Given the description of an element on the screen output the (x, y) to click on. 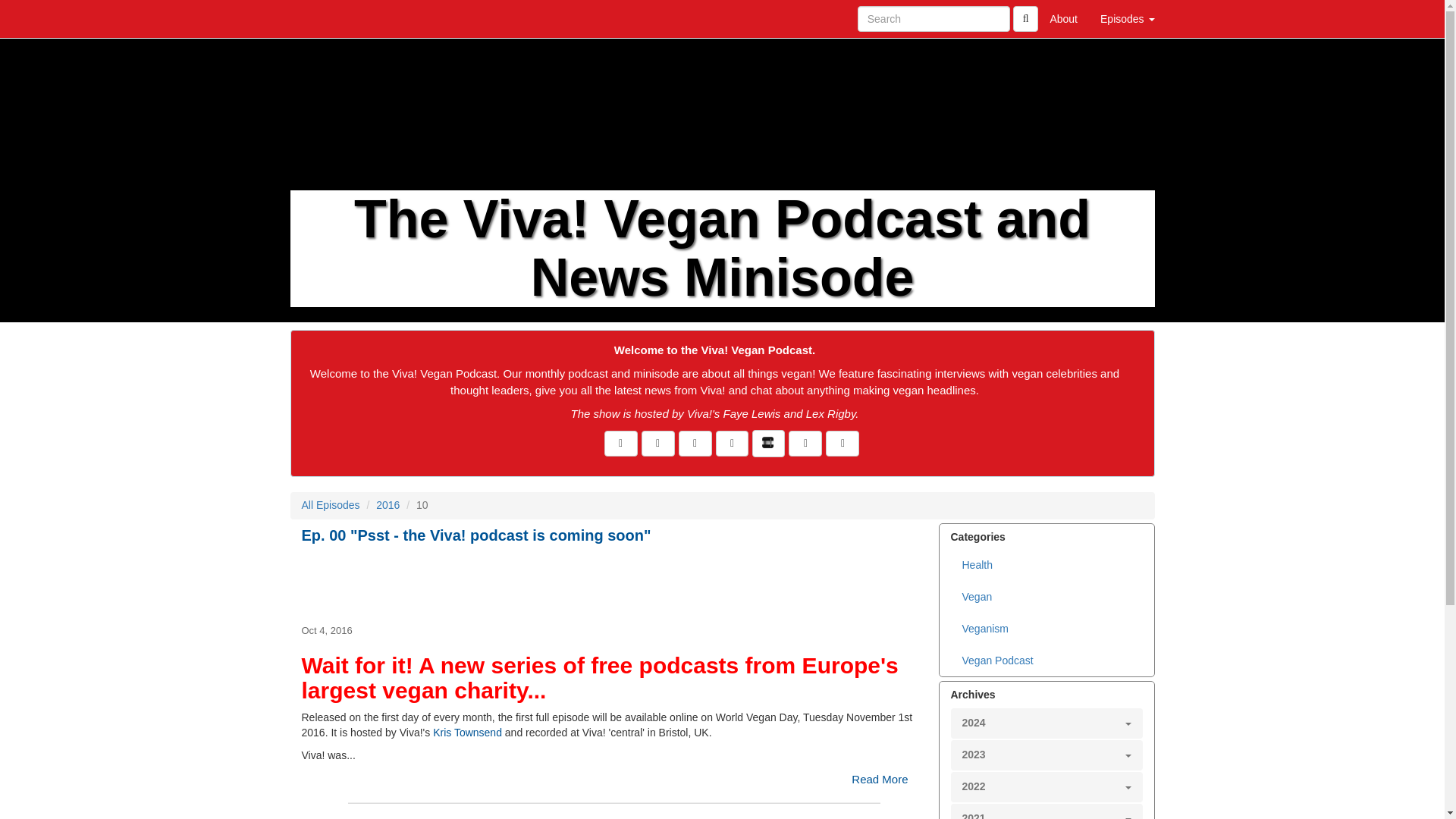
Episodes (1127, 18)
Ep. 00 "Psst - the Viva! podcast is coming soon" (614, 581)
About (1063, 18)
Home Page (320, 18)
